Given the description of an element on the screen output the (x, y) to click on. 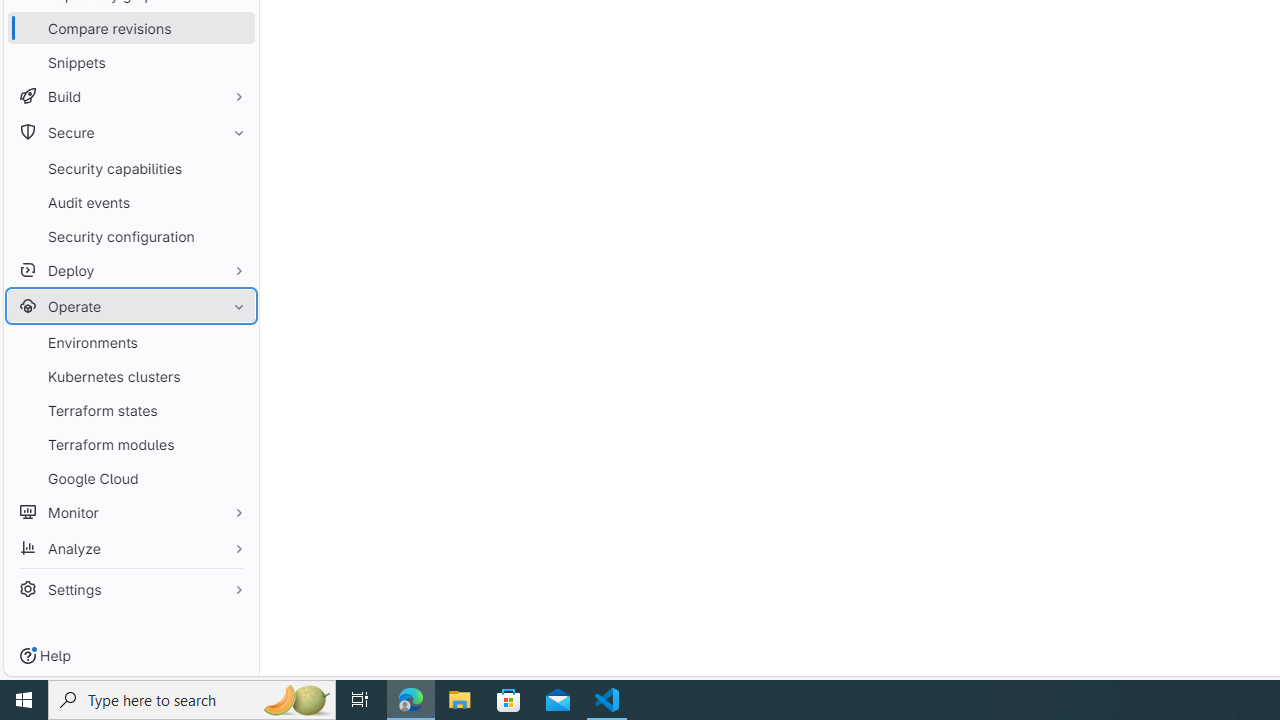
Operate (130, 306)
Pin Audit events (234, 202)
Kubernetes clusters (130, 376)
Security capabilities (130, 168)
Build (130, 96)
Deploy (130, 270)
Secure (130, 132)
Monitor (130, 512)
Pin Compare revisions (234, 28)
Terraform modules (130, 443)
Pin Security capabilities (234, 168)
Terraform states (130, 409)
